Given the description of an element on the screen output the (x, y) to click on. 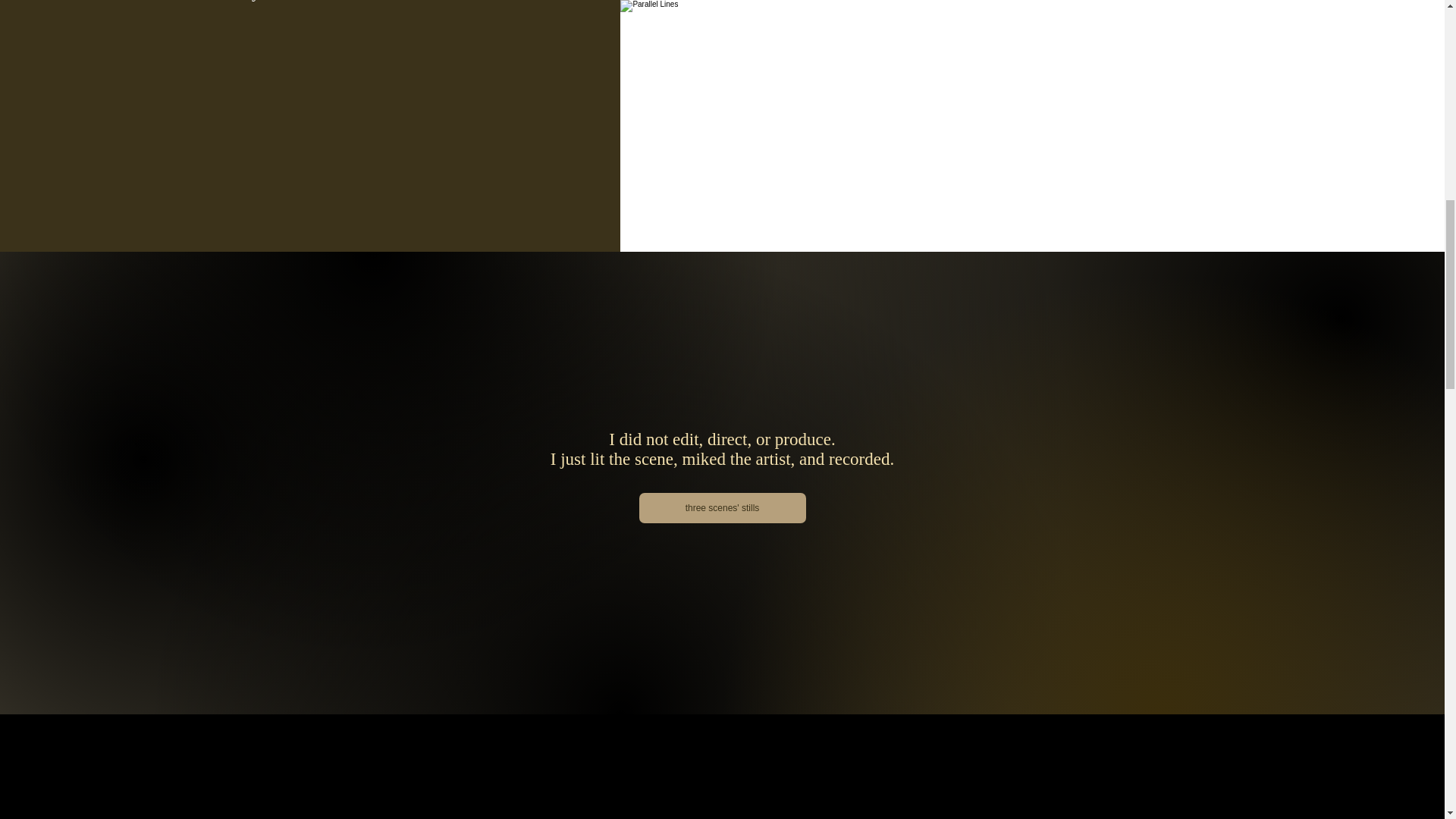
three scenes' stills (722, 508)
